Given the description of an element on the screen output the (x, y) to click on. 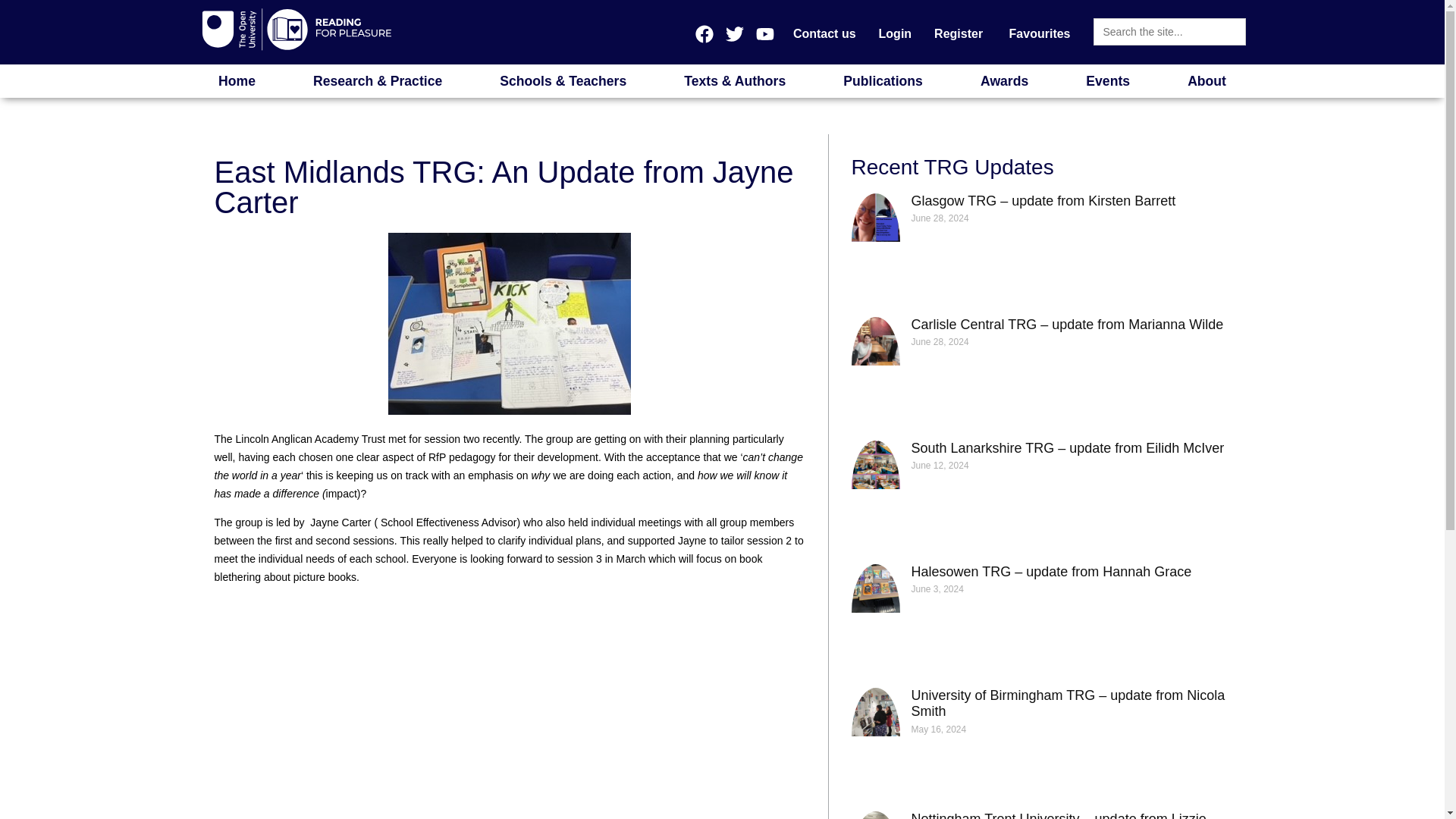
Login (895, 33)
Register (958, 33)
 Favourites (1037, 33)
Contact us (824, 33)
